Given the description of an element on the screen output the (x, y) to click on. 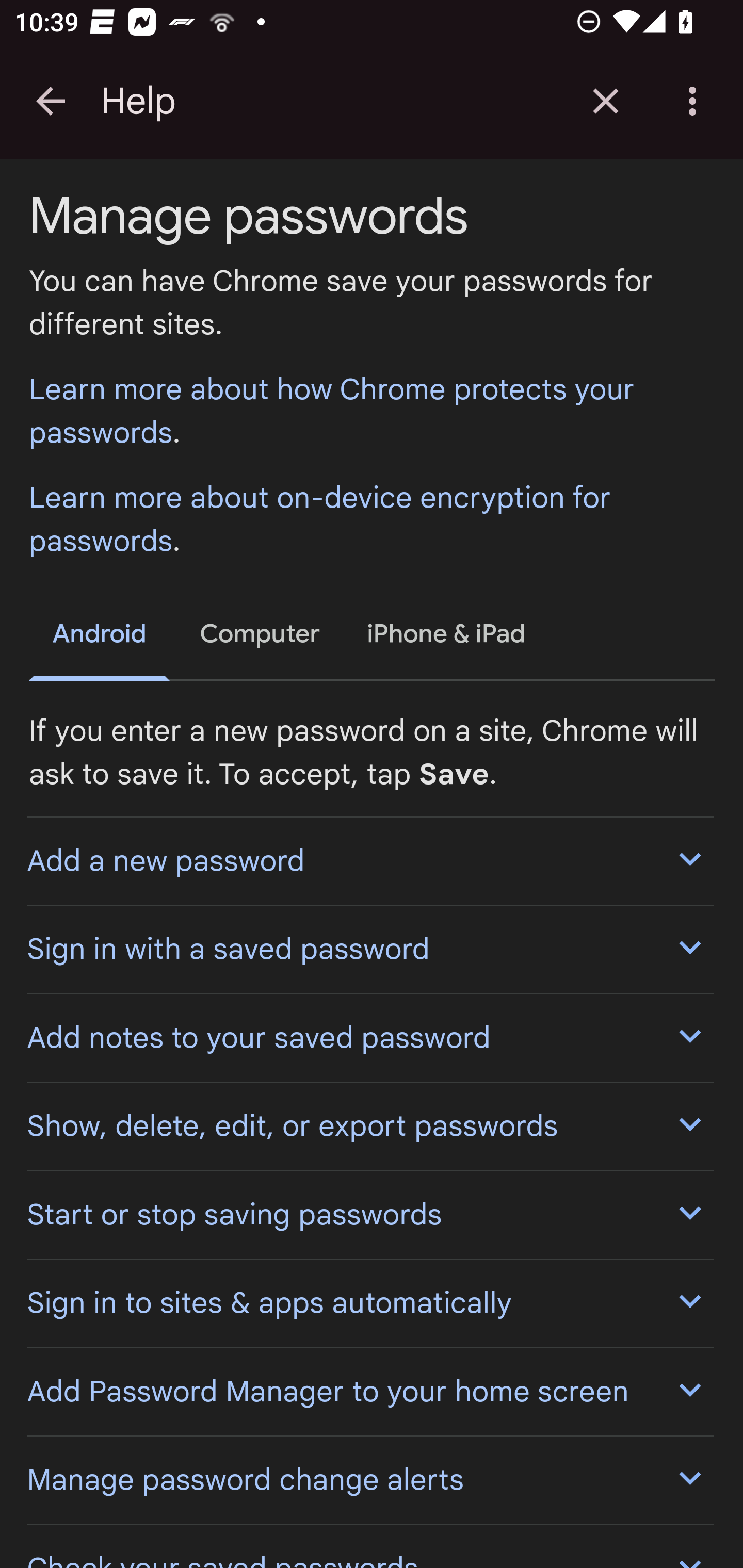
Navigate up (50, 101)
Return to Chrome (605, 101)
More options (696, 101)
Android (99, 637)
Computer (259, 635)
iPhone & iPad (446, 635)
Add a new password (369, 860)
Sign in with a saved password (369, 948)
Add notes to your saved password (369, 1037)
Show, delete, edit, or export passwords (369, 1123)
Start or stop saving passwords (369, 1214)
Sign in to sites & apps automatically (369, 1300)
Add Password Manager to your home screen (369, 1391)
Manage password change alerts (369, 1479)
